Given the description of an element on the screen output the (x, y) to click on. 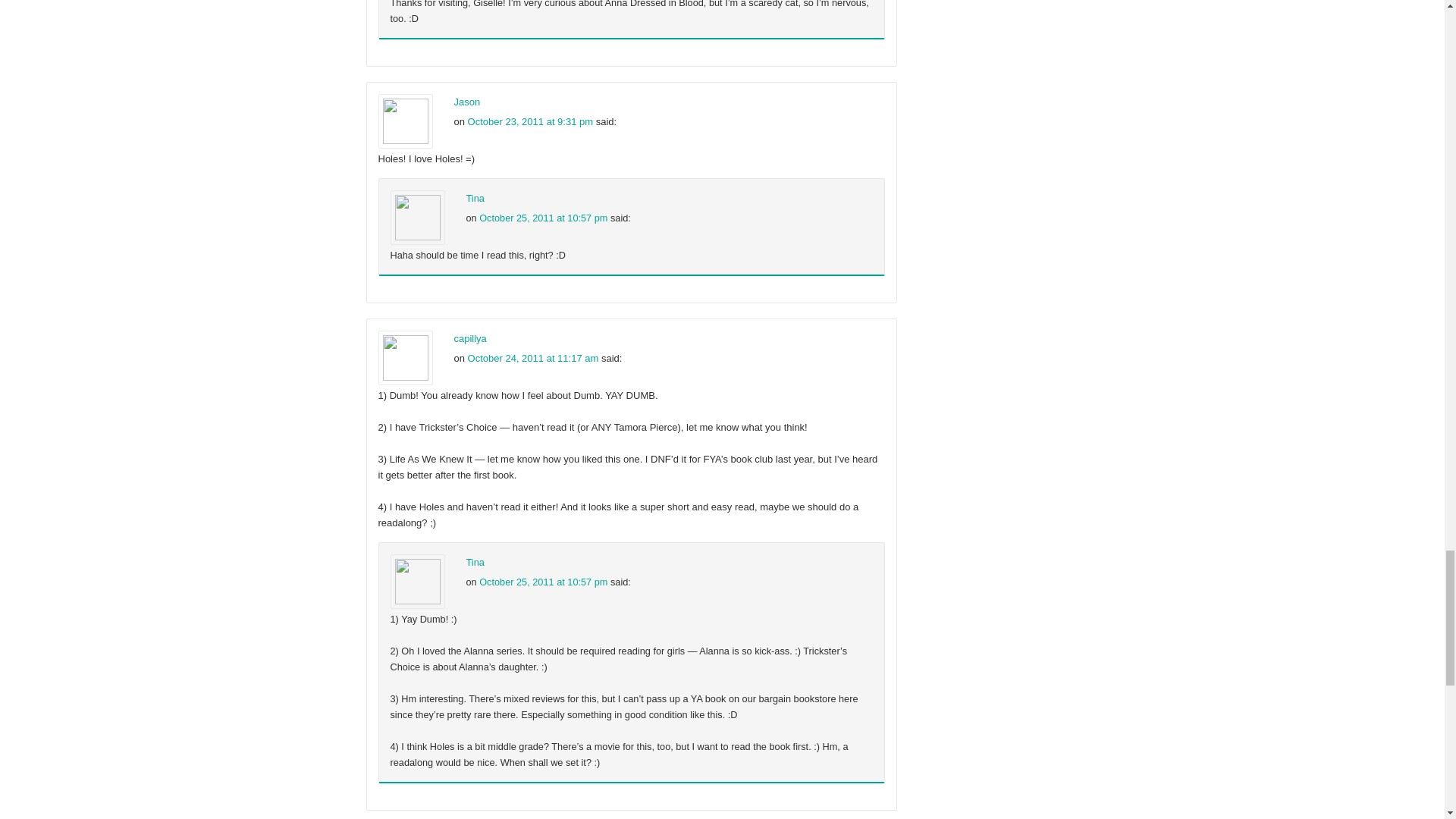
Jason (466, 101)
October 23, 2011 at 9:31 pm (530, 121)
